Given the description of an element on the screen output the (x, y) to click on. 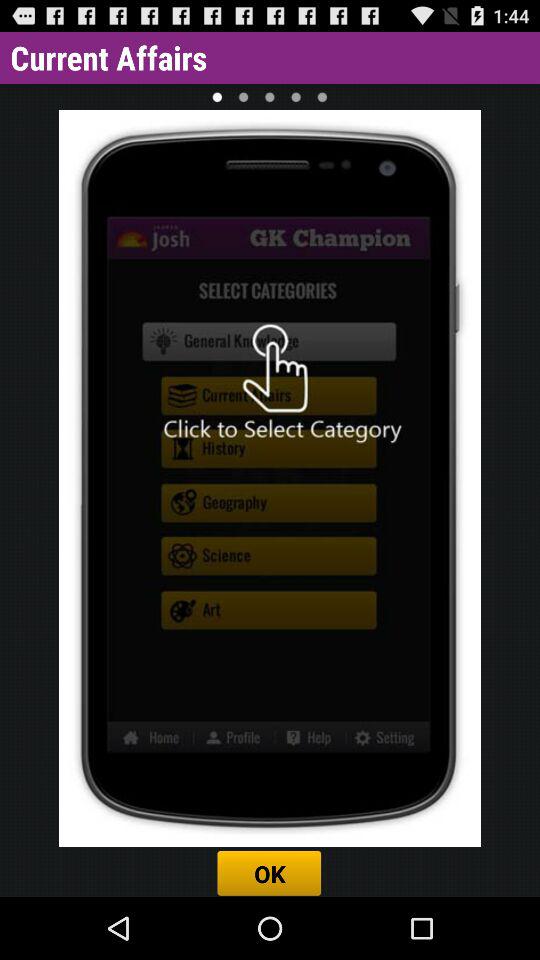
select next screenshot (243, 96)
